Given the description of an element on the screen output the (x, y) to click on. 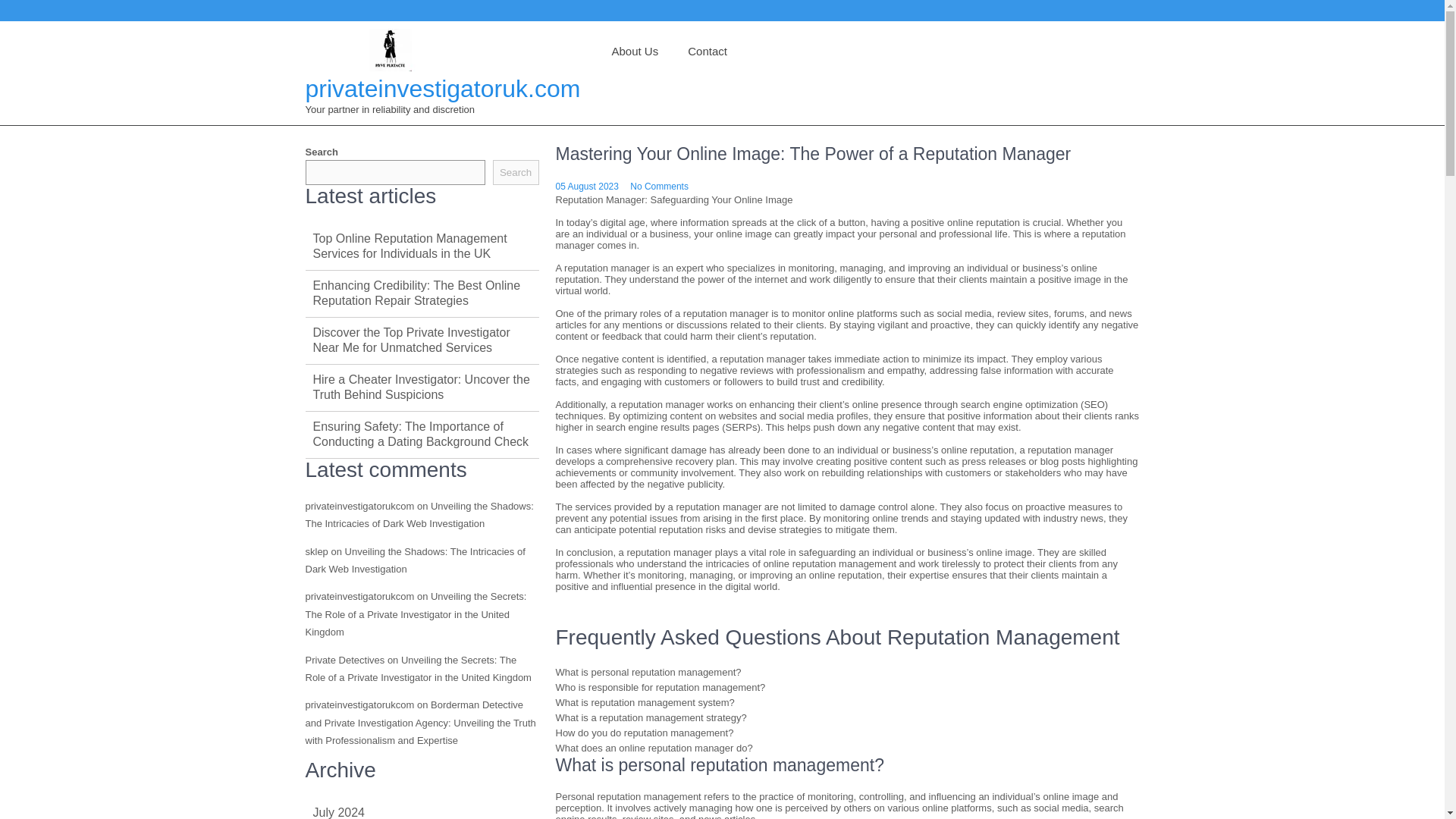
What is a reputation management strategy? (649, 717)
About Us (633, 51)
What does an online reputation manager do? (653, 747)
What is personal reputation management? (647, 672)
Who is responsible for reputation management? (659, 686)
How do you do reputation management? (643, 732)
Contact (707, 51)
What is reputation management system? (643, 702)
privateinvestigatoruk.com (441, 88)
No Comments (659, 185)
